Given the description of an element on the screen output the (x, y) to click on. 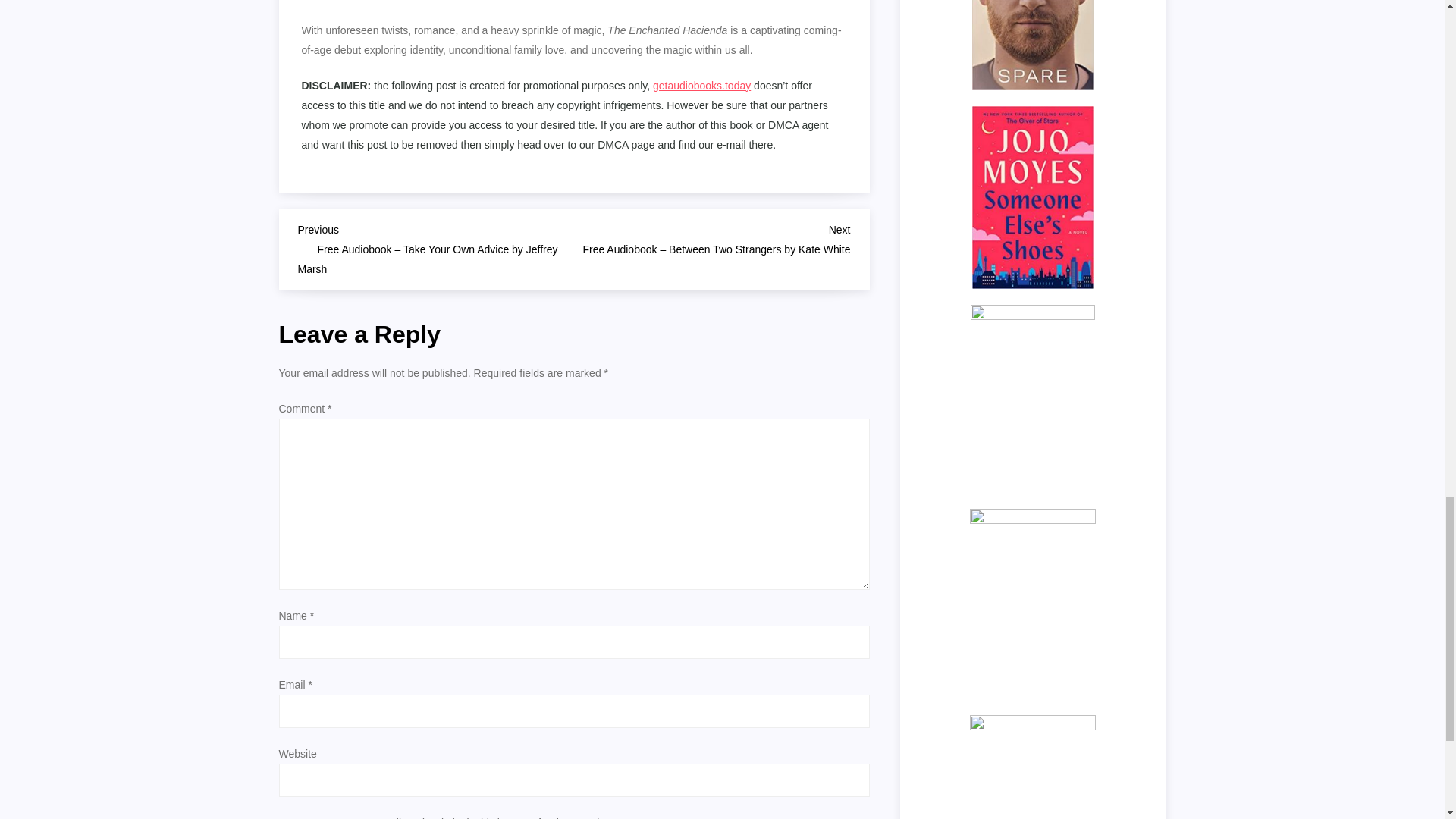
getaudiobooks.today (701, 85)
